Given the description of an element on the screen output the (x, y) to click on. 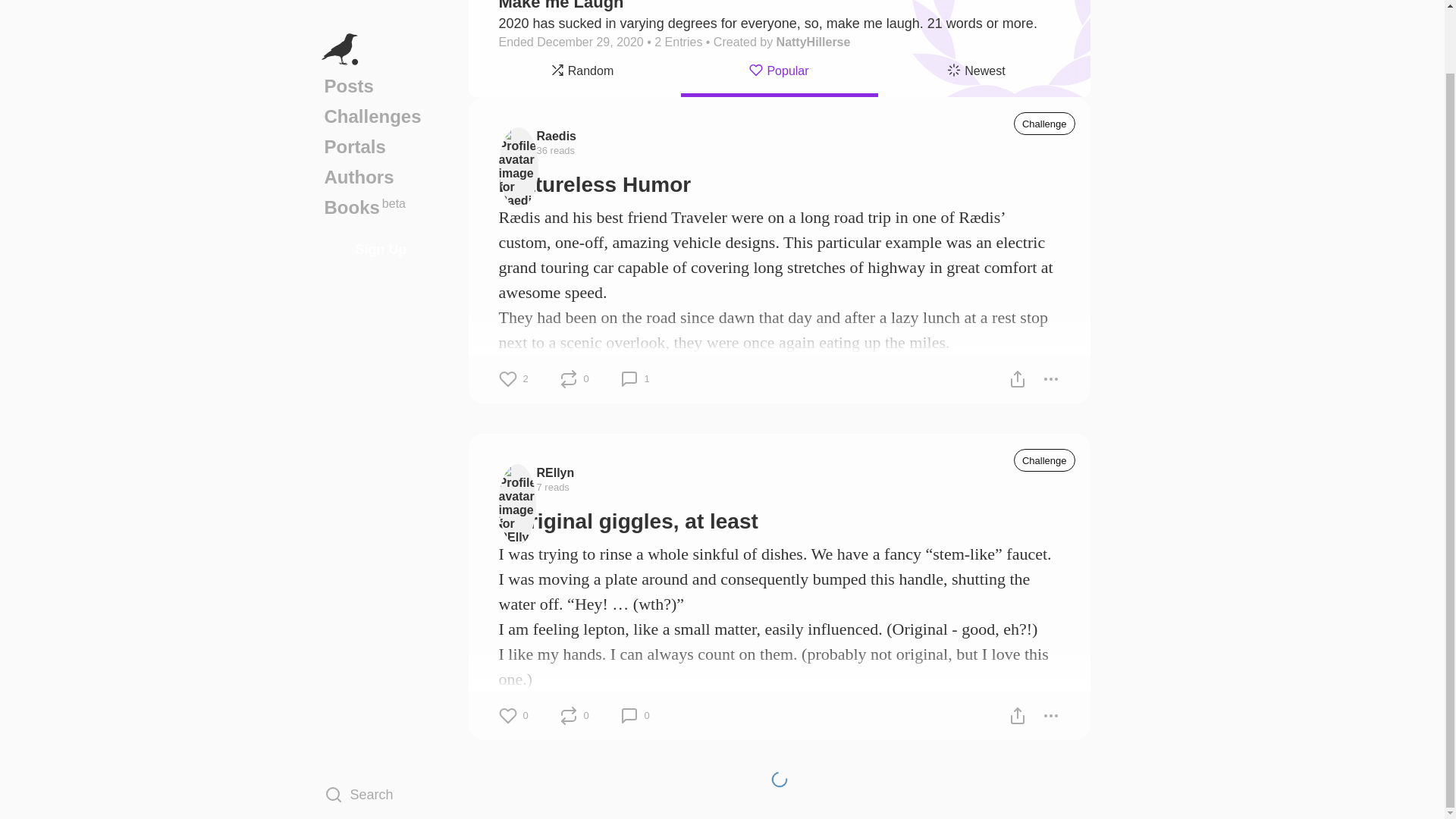
Raedis (556, 134)
REllyn (556, 472)
Search (381, 724)
Random (582, 73)
Challenge (1044, 123)
Authors (381, 107)
Challenge (1044, 459)
Portals (381, 77)
Popular (381, 137)
